Given the description of an element on the screen output the (x, y) to click on. 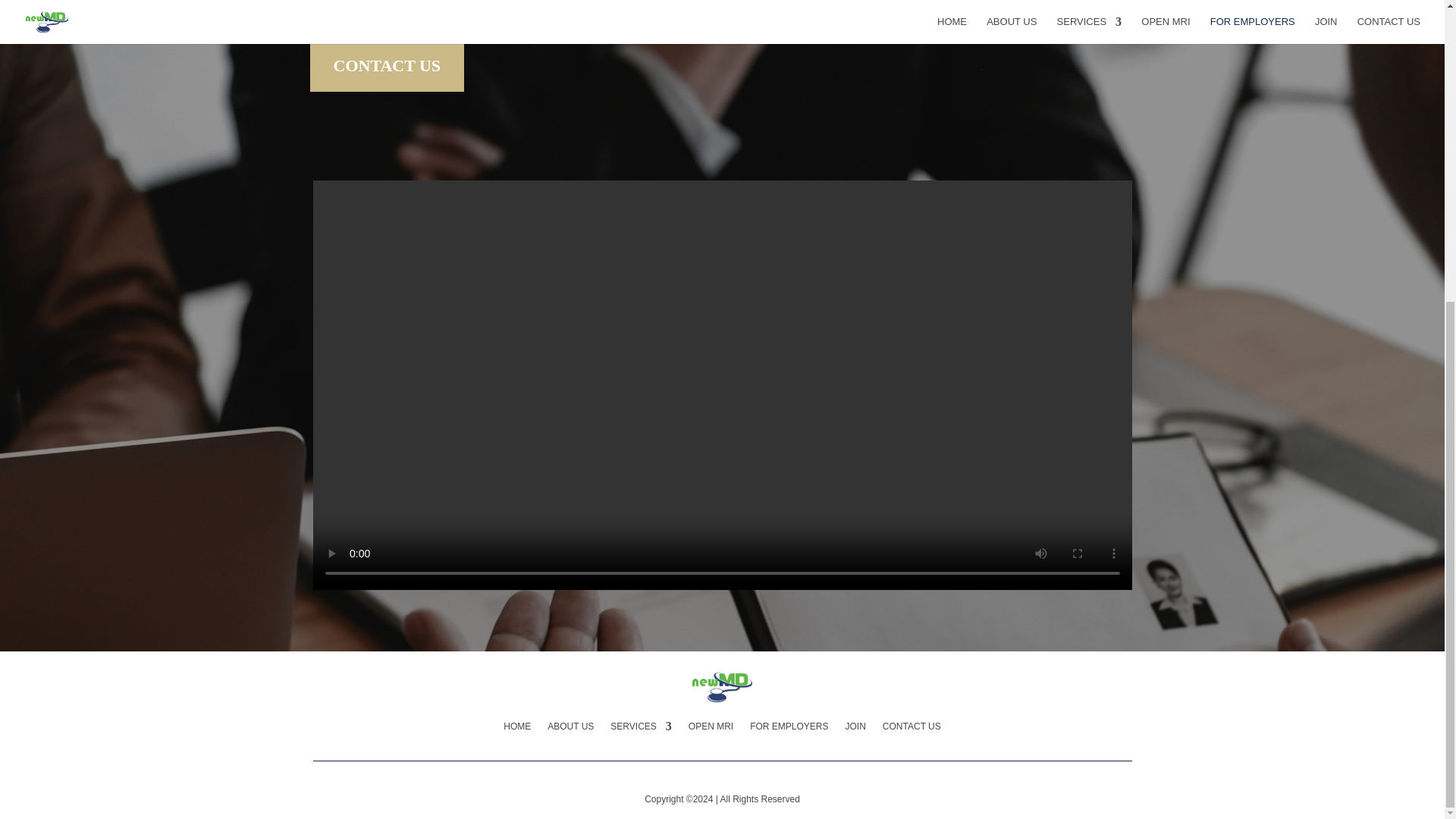
CONTACT US (911, 723)
SERVICES (640, 723)
FOR EMPLOYERS (788, 723)
Newmd logo original (722, 686)
ABOUT US (570, 723)
HOME (517, 723)
JOIN (855, 723)
CONTACT US (386, 65)
OPEN MRI (710, 723)
